Given the description of an element on the screen output the (x, y) to click on. 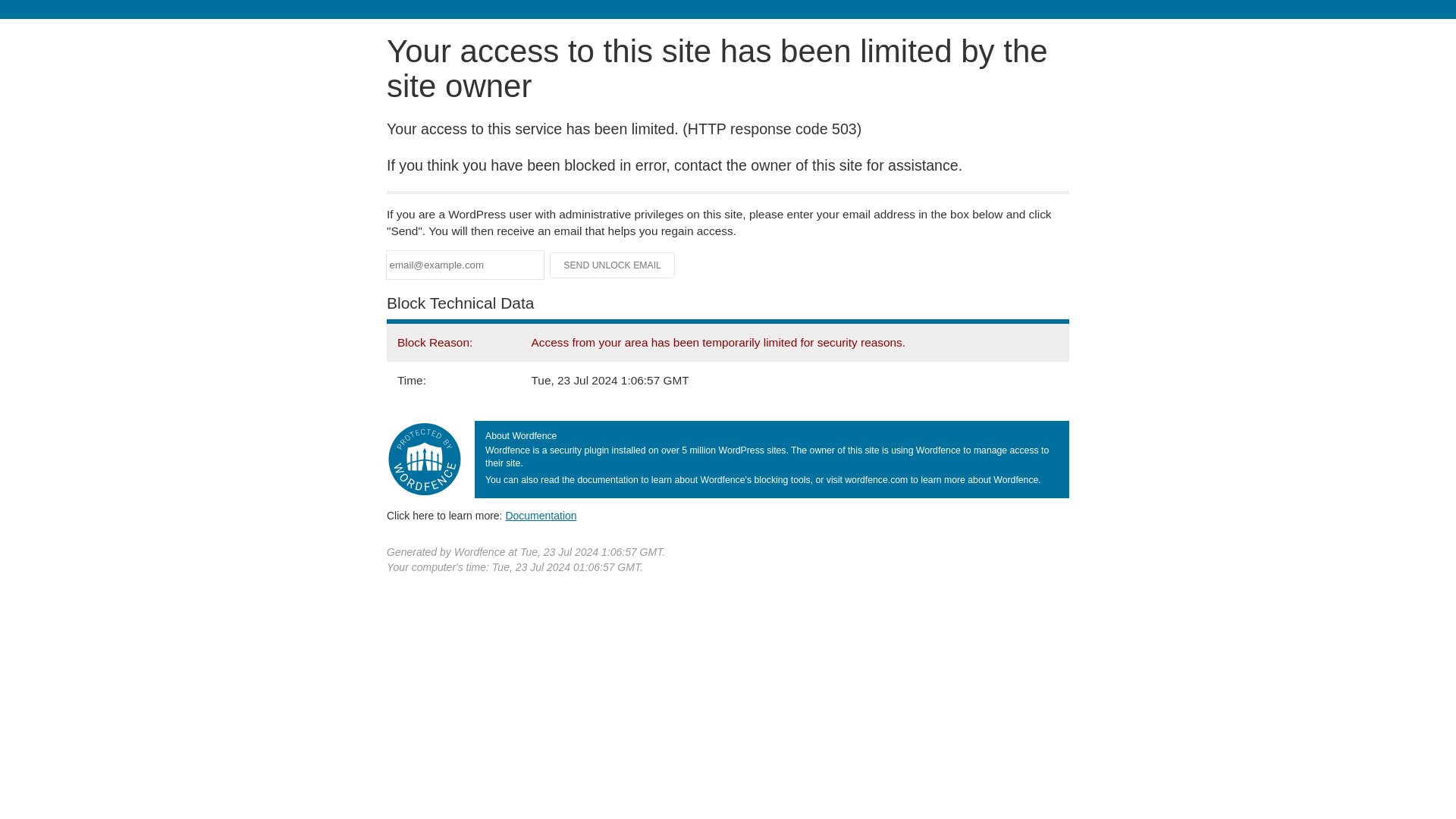
Documentation (540, 515)
Send Unlock Email (612, 265)
Send Unlock Email (612, 265)
